Given the description of an element on the screen output the (x, y) to click on. 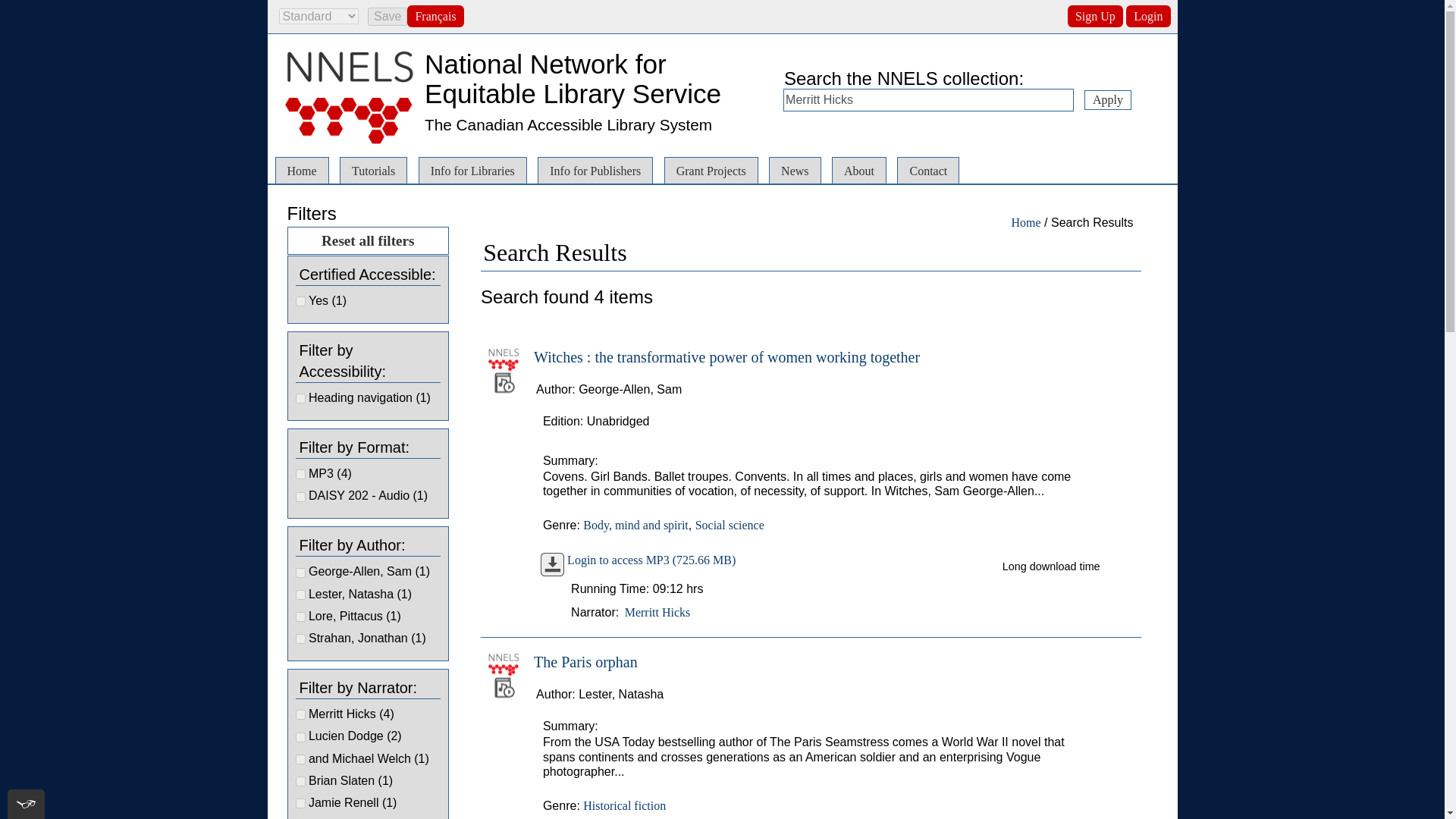
1 (300, 737)
1 (300, 781)
1 (300, 496)
Historical fiction (624, 805)
Body, mind and spirit (635, 524)
Sidebar menu (312, 197)
Contact (927, 170)
Witches : the transformative power of women working together (727, 356)
News (794, 170)
The Paris orphan (585, 661)
1 (300, 474)
Main content (512, 234)
Login (1147, 15)
About (858, 170)
